Given the description of an element on the screen output the (x, y) to click on. 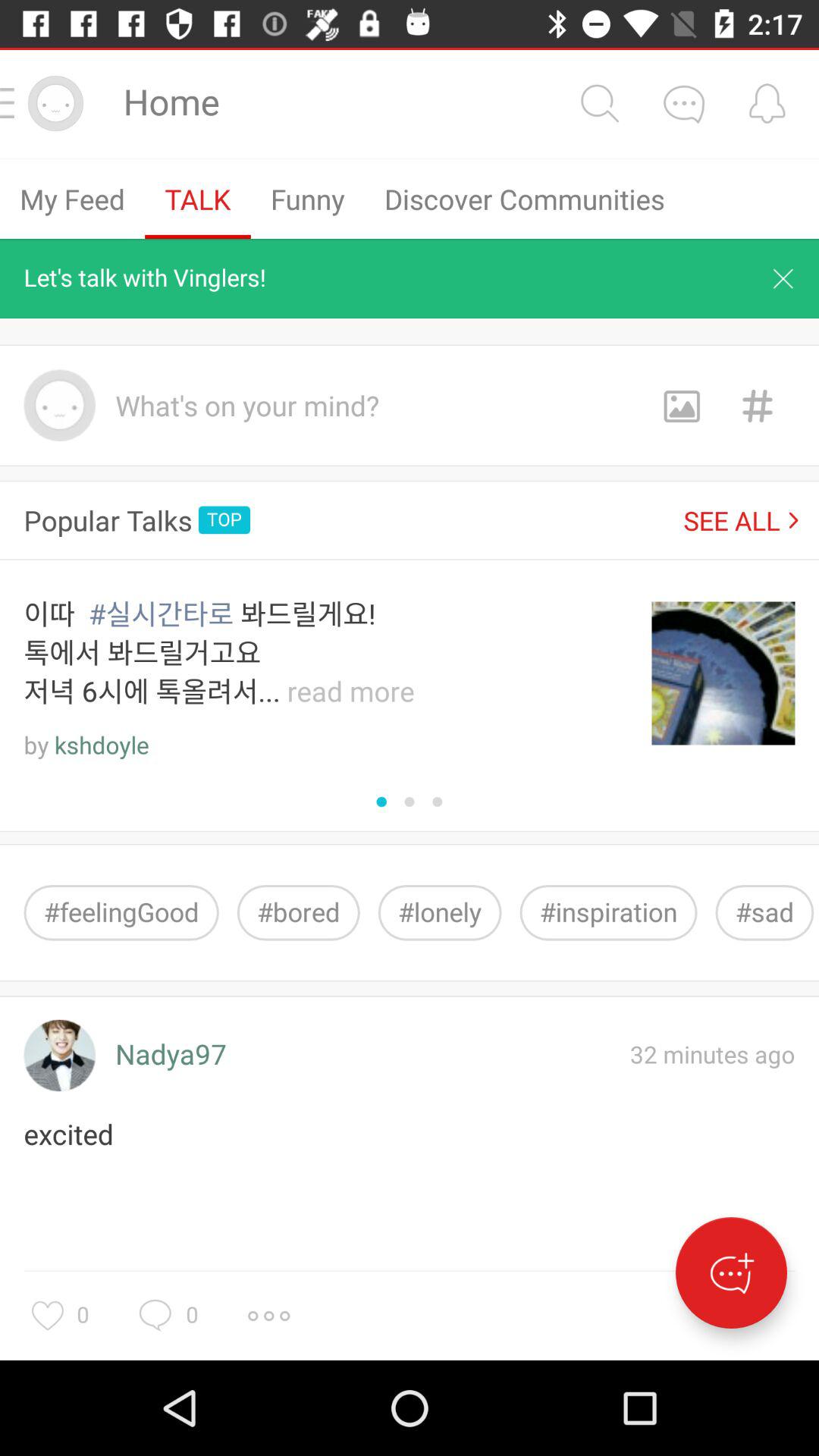
profile picture (59, 1055)
